Given the description of an element on the screen output the (x, y) to click on. 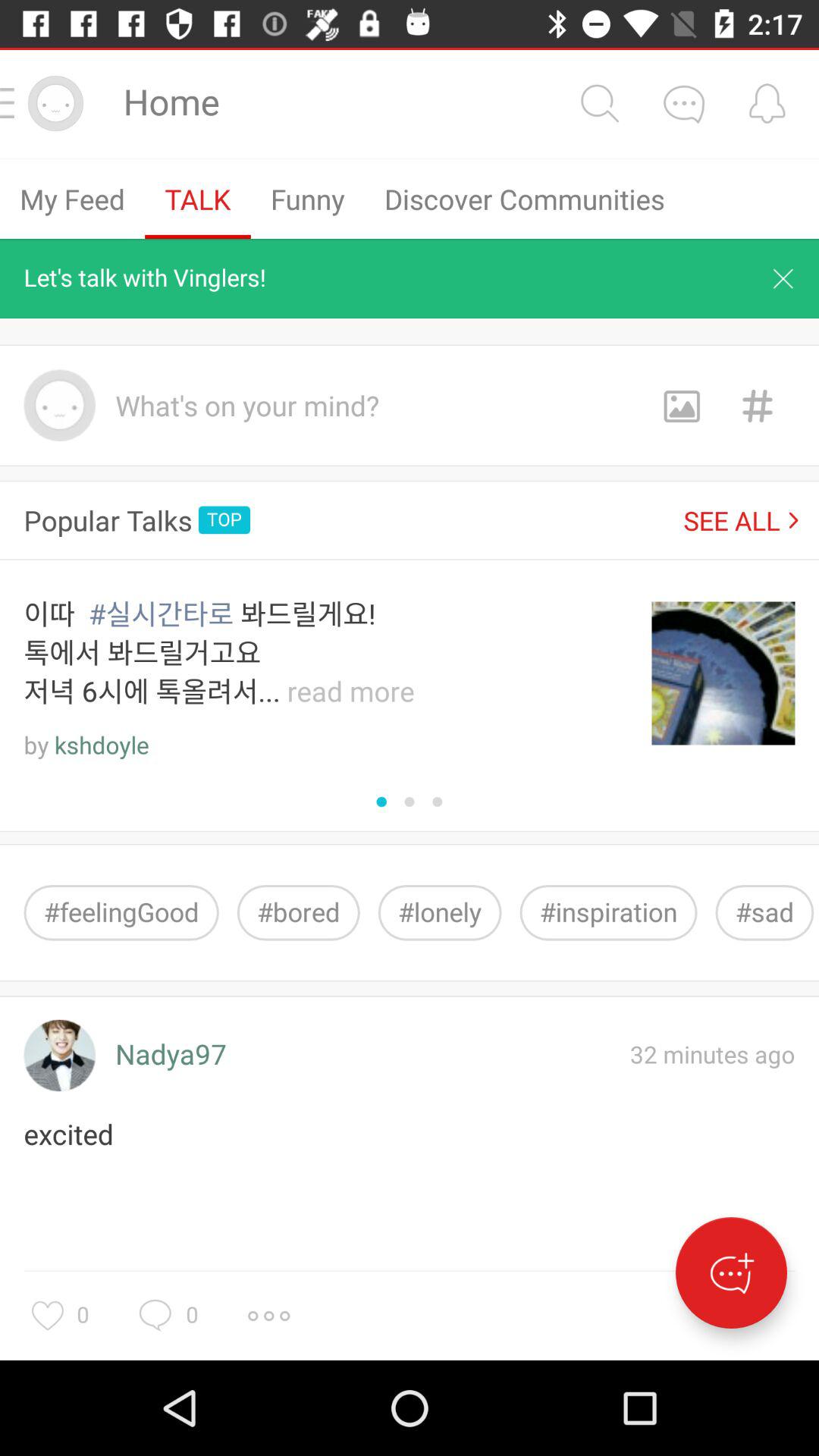
profile picture (59, 1055)
